Given the description of an element on the screen output the (x, y) to click on. 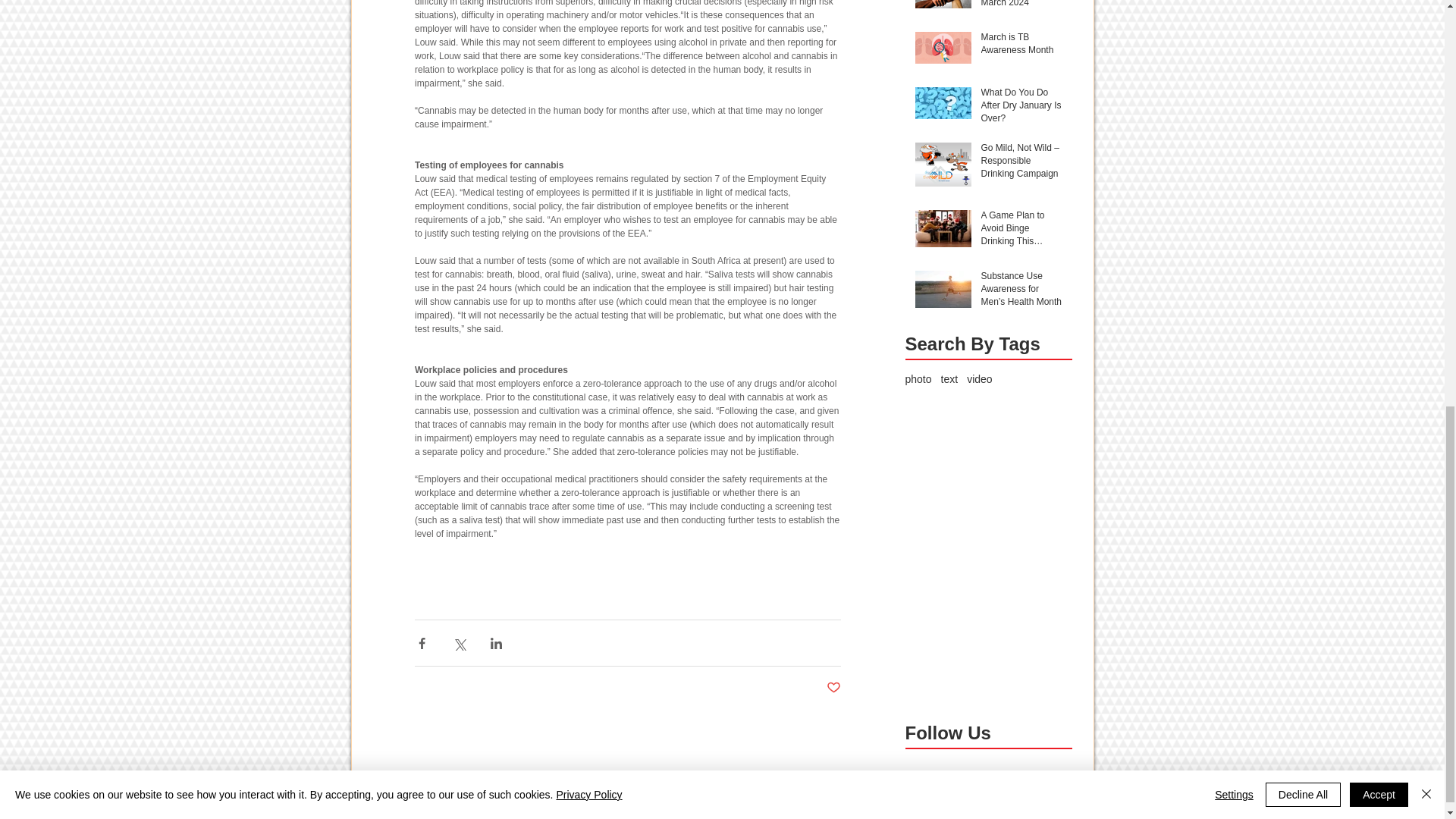
What Do You Do After Dry January Is Over? (1021, 108)
video (978, 378)
text (949, 378)
Post not marked as liked (834, 688)
photo (918, 378)
A Game Plan to Avoid Binge Drinking This Festive Season (1021, 231)
March is TB Awareness Month (1021, 47)
